Given the description of an element on the screen output the (x, y) to click on. 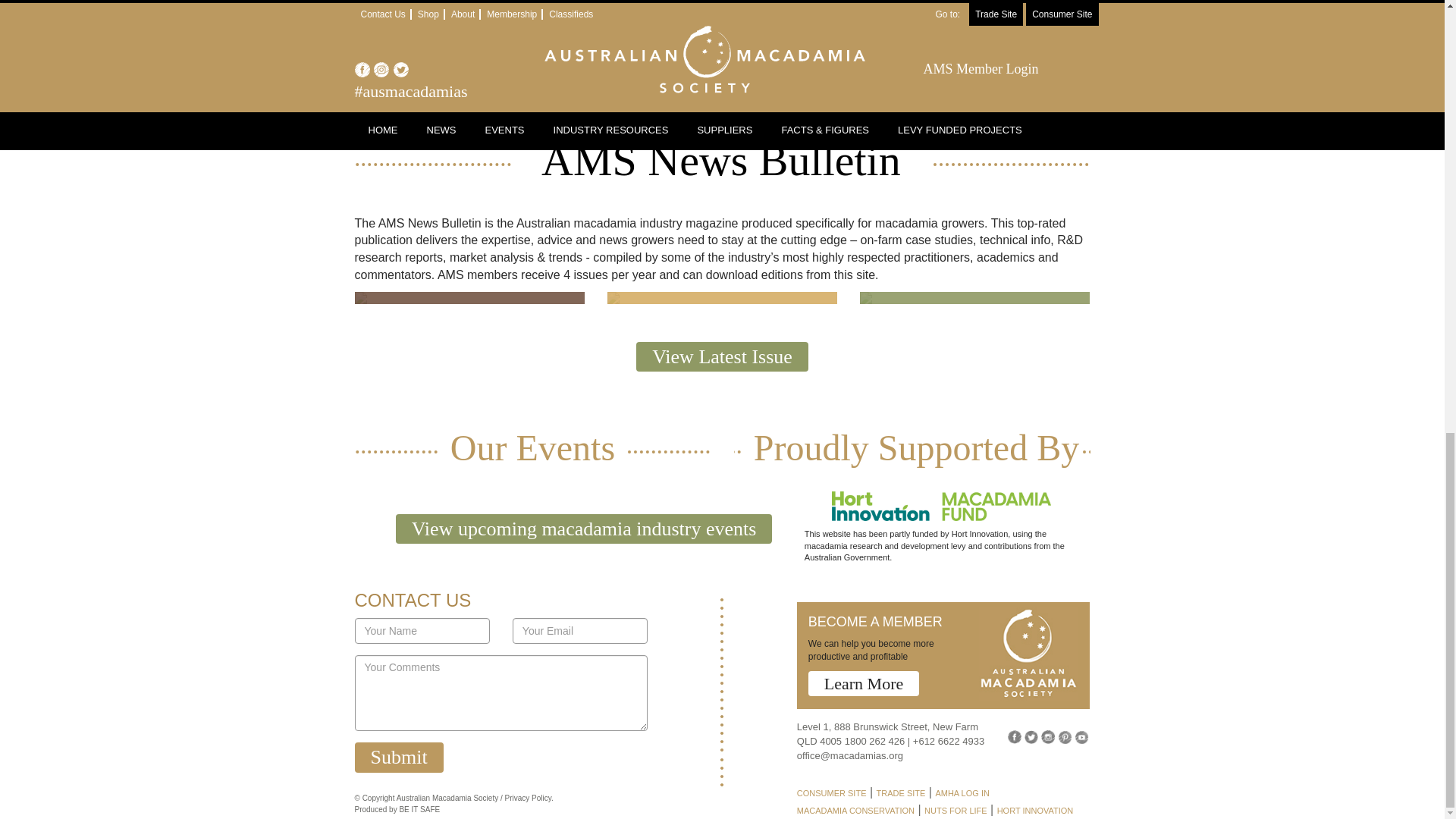
Submit (399, 757)
